Given the description of an element on the screen output the (x, y) to click on. 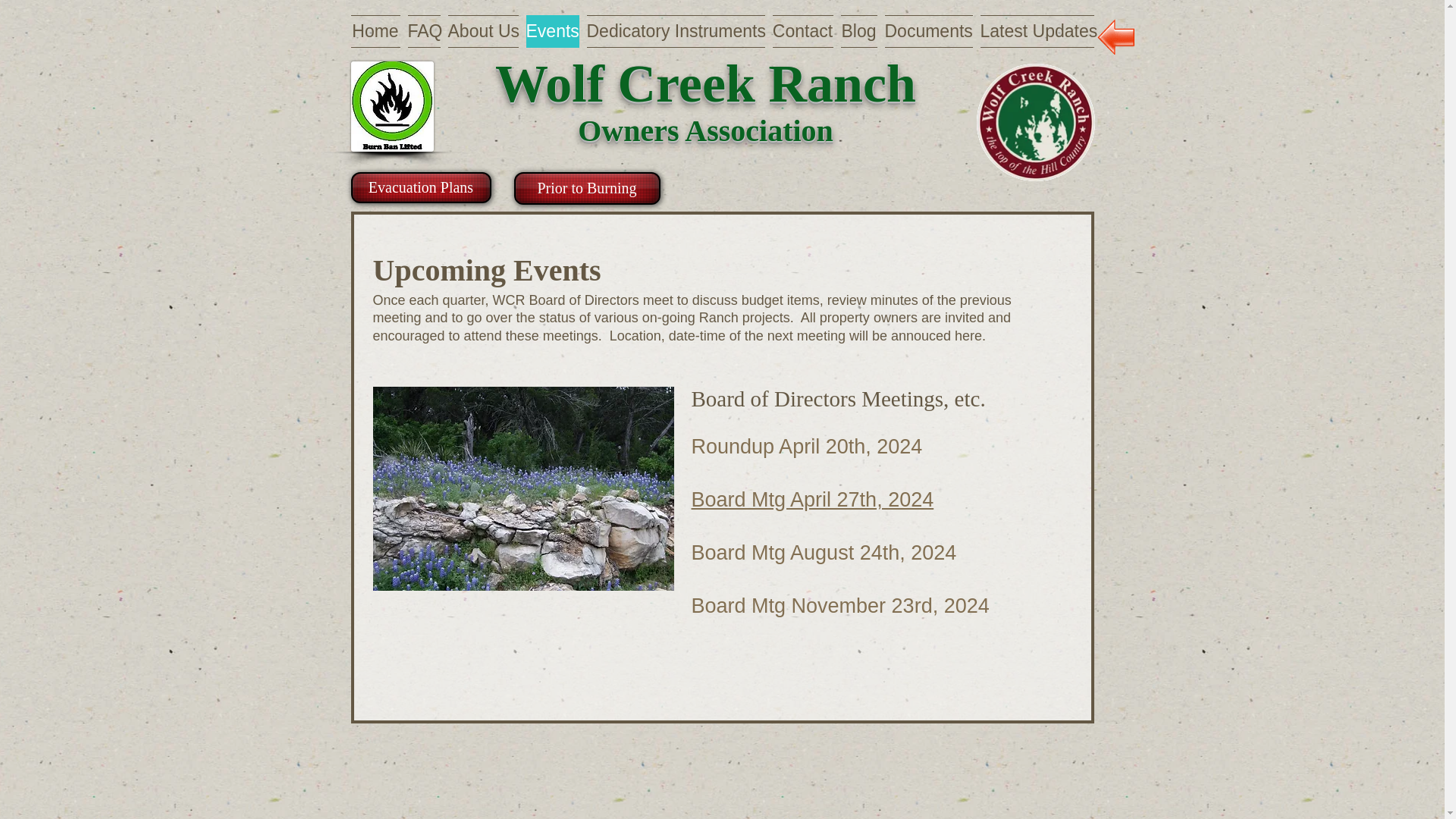
DSCF3465.JPG (523, 488)
Events (551, 31)
Prior to Burning (587, 187)
FAQ (423, 31)
Click to go to WCR Forums (1035, 121)
Home (376, 31)
Burn Ban OFF as of Oct 25, 2023 (391, 106)
Contact (802, 31)
Documents (928, 31)
Blog (858, 31)
Evacuation Plans (420, 187)
Dedicatory Instruments (675, 31)
Board Mtg April 27th, 2024 (812, 499)
About Us (483, 31)
Latest Updates (1035, 31)
